Given the description of an element on the screen output the (x, y) to click on. 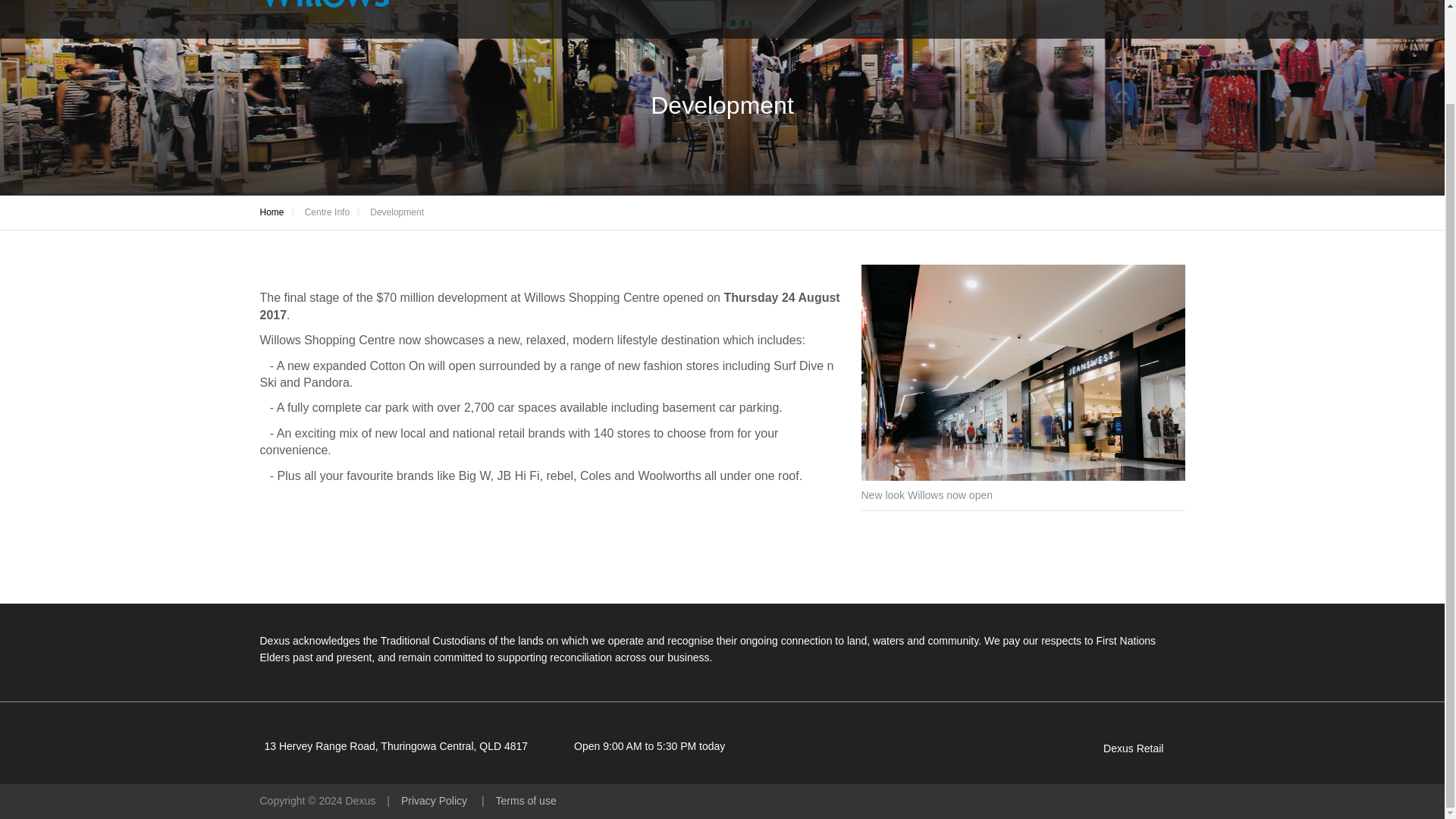
Offers (925, 7)
Home (271, 212)
Privacy Policy (435, 800)
Terms of use (526, 800)
Dexus Retail (1133, 748)
13 Hervey Range Road, Thuringowa Central, QLD 4817 (395, 746)
Dexus Retail (1133, 748)
Centre Info (1132, 7)
Open 9:00 AM to 5:30 PM today (649, 746)
Development (396, 212)
